Given the description of an element on the screen output the (x, y) to click on. 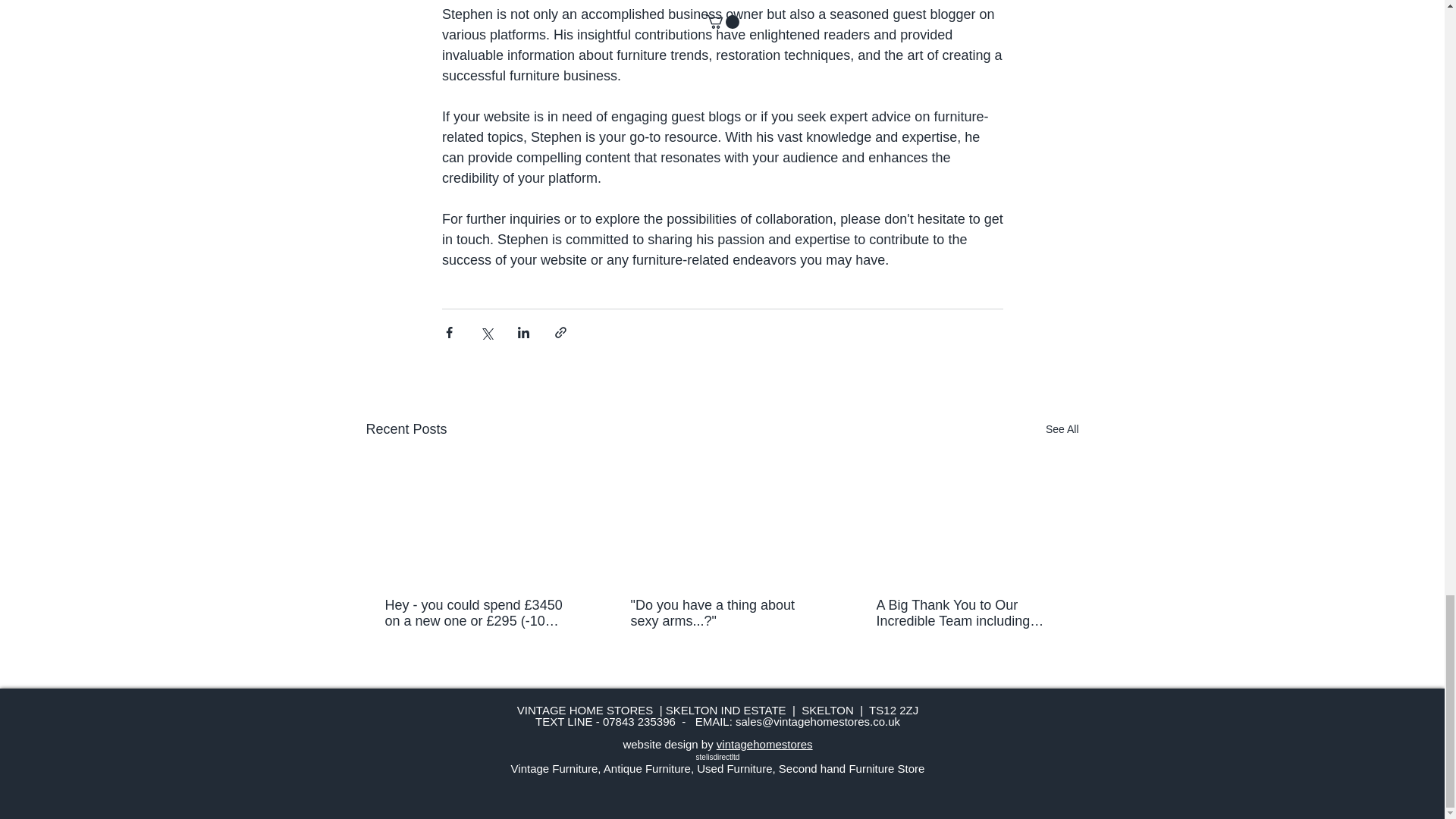
A Big Thank You to Our Incredible Team including Teesside10! (967, 613)
See All (1061, 429)
"Do you have a thing about sexy arms...?" (721, 613)
